Given the description of an element on the screen output the (x, y) to click on. 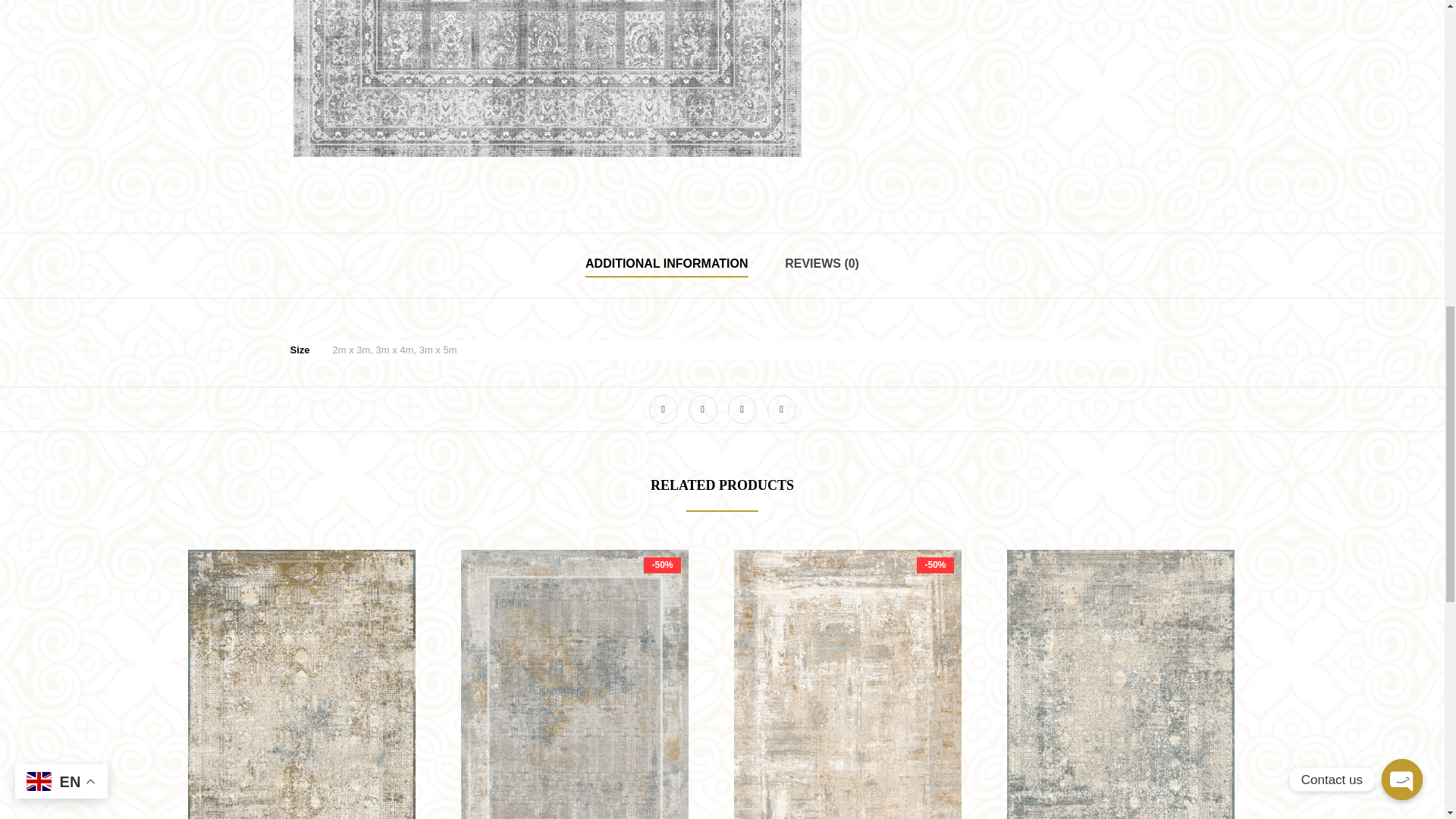
Pinterest (781, 409)
ADDITIONAL INFORMATION (666, 265)
LinkedIn (742, 409)
Twitter (702, 409)
Facebook (663, 409)
